Given the description of an element on the screen output the (x, y) to click on. 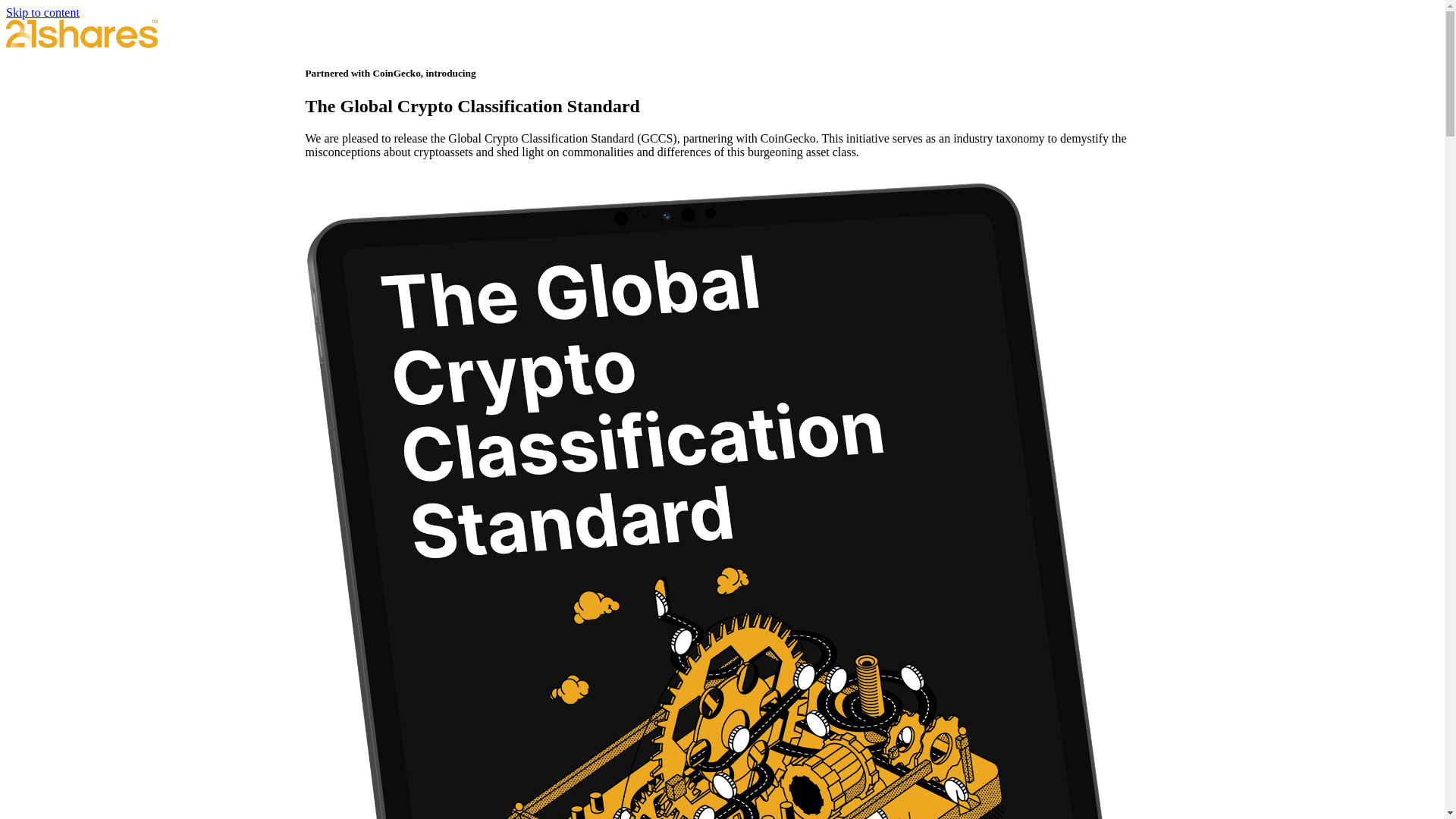
Skip to content Element type: text (42, 12)
